Given the description of an element on the screen output the (x, y) to click on. 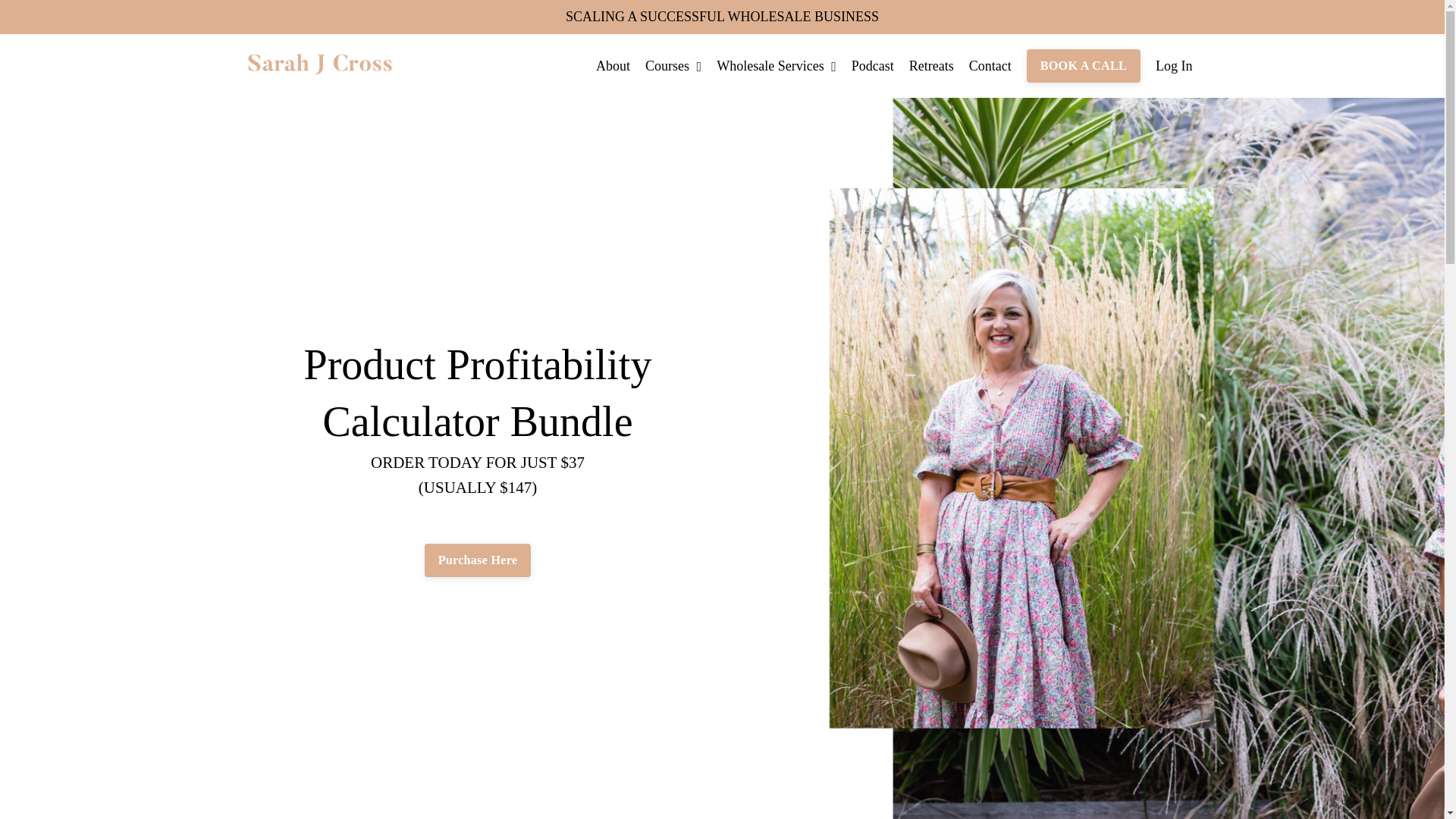
BOOK A CALL (1083, 65)
Purchase Here (478, 560)
Log In (1174, 65)
Contact (990, 65)
Retreats (930, 65)
Podcast (872, 65)
About (612, 65)
Wholesale Services (775, 65)
Courses (673, 65)
